Given the description of an element on the screen output the (x, y) to click on. 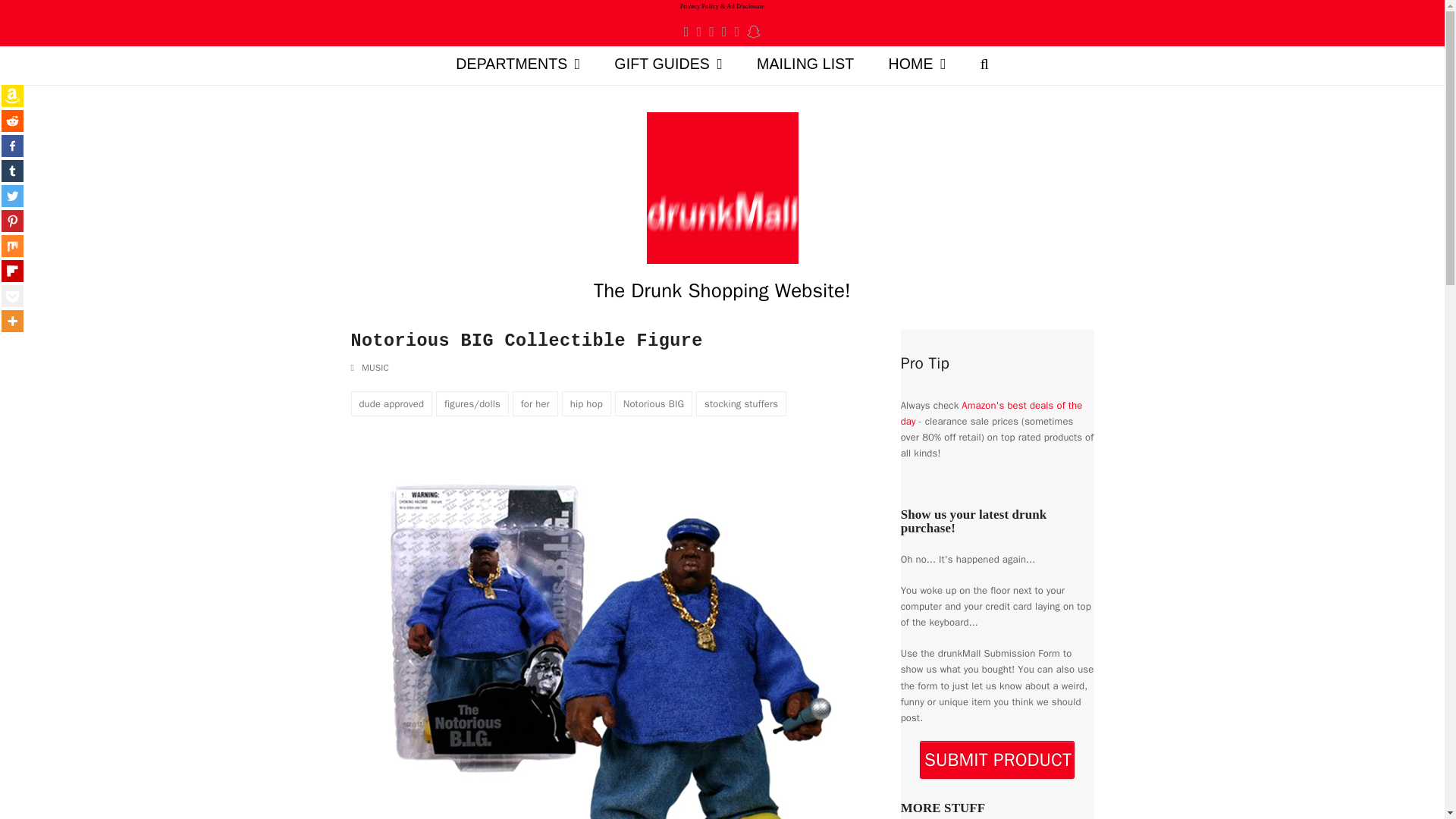
GIFT GUIDES (668, 65)
HOME (916, 65)
DEPARTMENTS (518, 65)
MAILING LIST (805, 65)
